Given the description of an element on the screen output the (x, y) to click on. 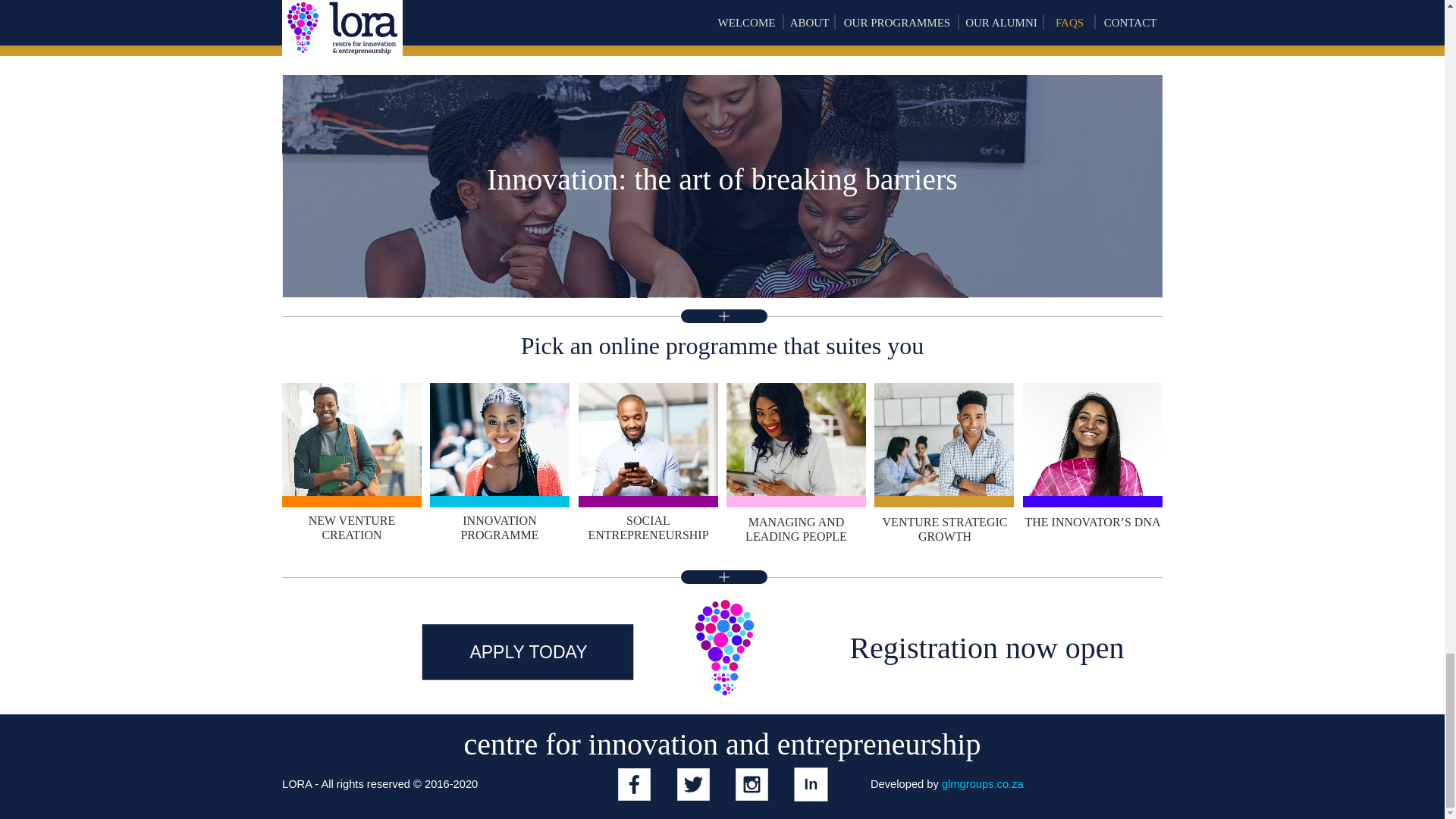
APPLY TODAY (527, 652)
In (810, 784)
glmgroups.co.za (982, 784)
